Given the description of an element on the screen output the (x, y) to click on. 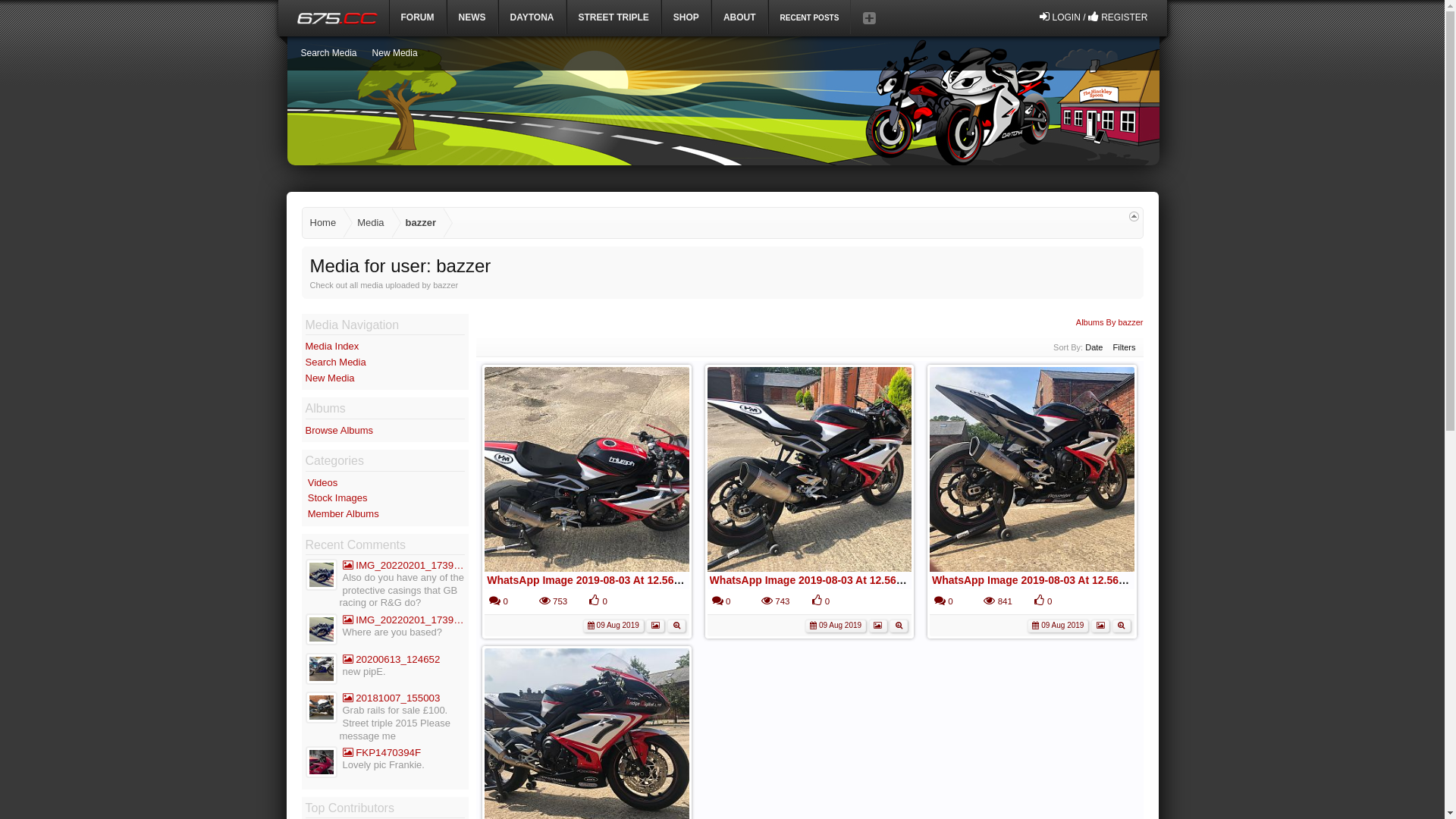
DAYTONA Element type: text (531, 17)
Preview Element type: hover (676, 624)
New Media Element type: text (329, 377)
Home Element type: text (322, 222)
Media Element type: text (367, 222)
Preview Element type: hover (898, 624)
Search Media Element type: text (334, 361)
SW73 Element type: hover (320, 763)
RECENT POSTS Element type: text (809, 17)
Media Index Element type: text (331, 345)
Date Element type: text (1093, 346)
Image Element type: hover (878, 625)
ABOUT Element type: text (739, 17)
LOGIN / REGISTER Element type: text (1093, 17)
WhatsApp Image 2019-08-03 At 12.56.56 Element type: text (810, 580)
Comments Element type: hover (939, 599)
Image Element type: hover (1100, 625)
SHOP Element type: text (686, 17)
Search Media Element type: text (328, 53)
bazzer Element type: text (417, 222)
WhatsApp Image 2019-08-03 At 12.56.55 Element type: text (587, 580)
Views Element type: hover (766, 599)
Views Element type: hover (988, 599)
brucedurham Element type: hover (320, 709)
FKP1470394F Element type: text (403, 752)
dfoster77 Element type: hover (320, 576)
Stock Images Element type: text (337, 497)
STREET TRIPLE Element type: text (613, 17)
Browse Albums Element type: text (338, 430)
NEWS Element type: text (472, 17)
dfoster77 Element type: hover (320, 631)
20200613_124652 Element type: text (403, 658)
New Media Element type: text (394, 53)
Preview Element type: hover (1121, 624)
Views Element type: hover (544, 599)
peter hawkins Element type: hover (320, 670)
IMG_20220201_173936 Element type: text (403, 619)
IMG_20220201_173936 Element type: text (403, 564)
Comments Element type: hover (717, 599)
FORUM Element type: text (417, 17)
20181007_155003 Element type: text (403, 697)
Member Albums Element type: text (343, 513)
Image Element type: hover (655, 625)
Open quick navigation Element type: hover (1133, 216)
Filters Element type: text (1124, 346)
Videos Element type: text (322, 482)
Comments Element type: hover (494, 599)
Albums By bazzer Element type: text (1109, 321)
WhatsApp Image 2019-08-03 At 12.56.57 Element type: text (1032, 580)
